Given the description of an element on the screen output the (x, y) to click on. 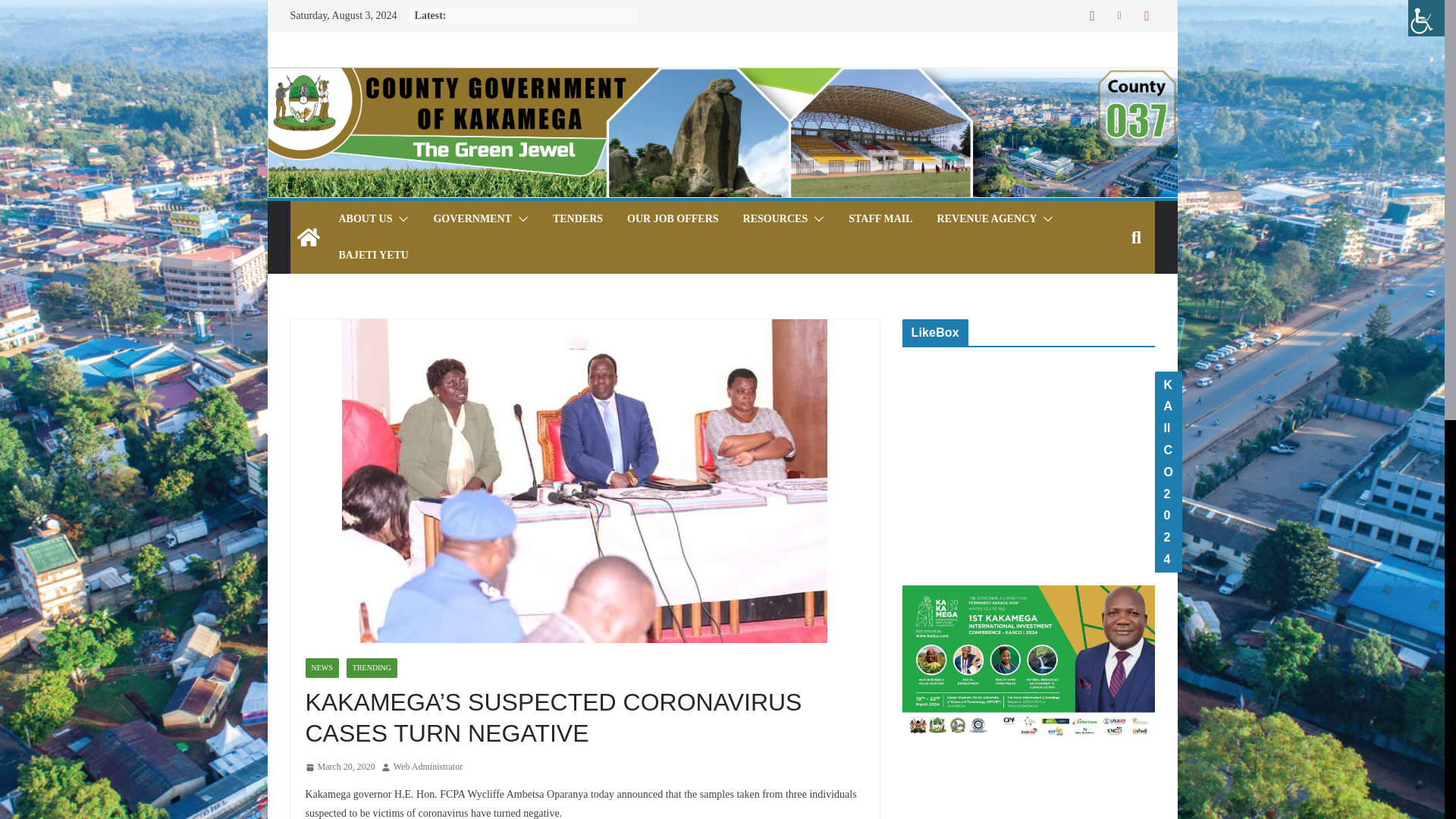
BAJETI YETU KAKAMEGA (372, 255)
County Government of Kakamega (721, 77)
County Government of Kakamega (307, 237)
10:52 pm (339, 767)
Web Administrator (428, 767)
ABOUT US (364, 219)
GOVERNMENT (471, 219)
